Given the description of an element on the screen output the (x, y) to click on. 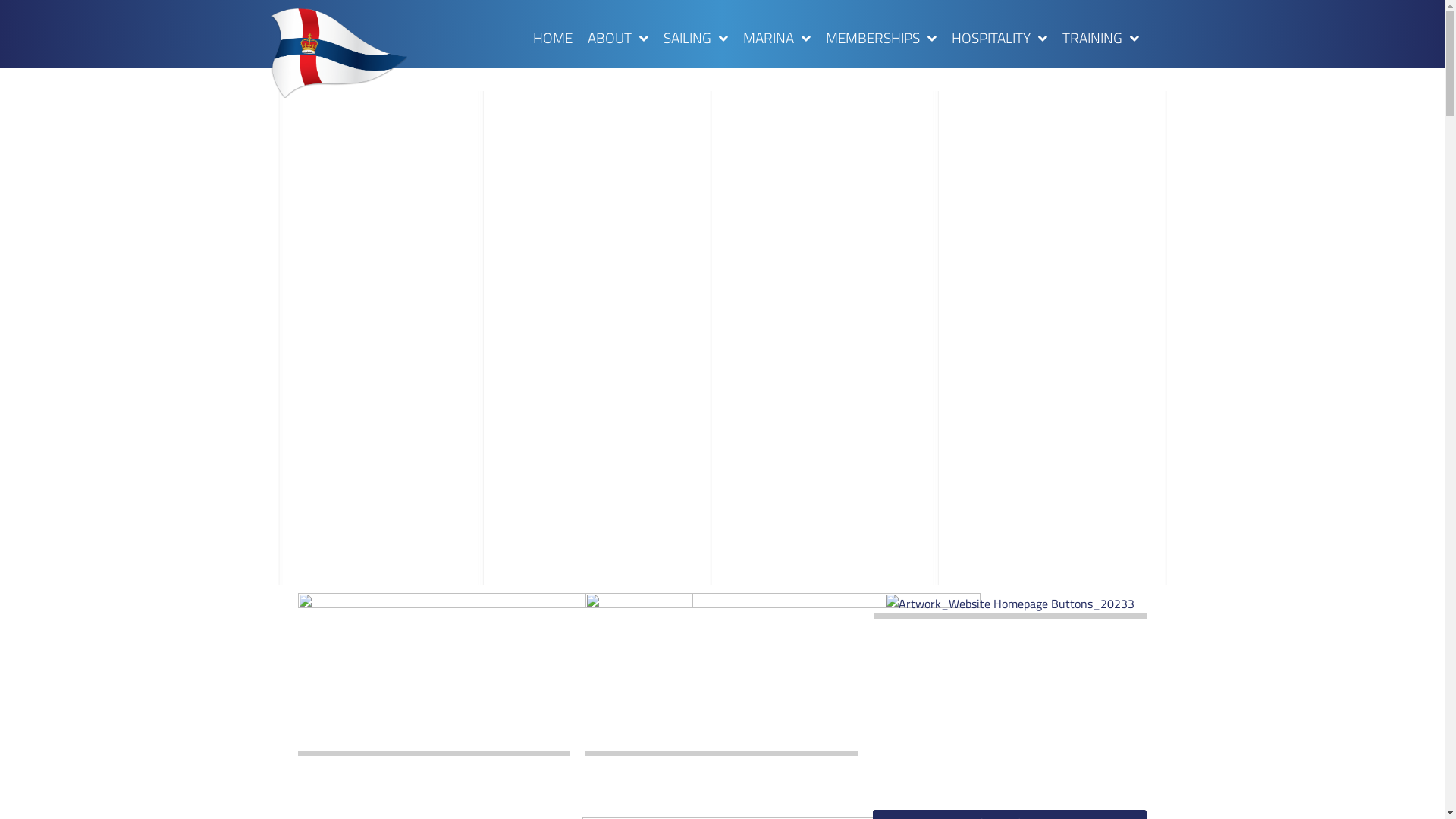
HOME Element type: text (552, 37)
Artwork_Website Homepage Buttons_20233 Element type: hover (1010, 604)
MEMBERSHIPS Element type: text (881, 37)
MARINA Element type: text (776, 37)
SAILING Element type: text (695, 37)
TRAINING Element type: text (1100, 37)
ABOUT Element type: text (617, 37)
HOSPITALITY Element type: text (999, 37)
